Given the description of an element on the screen output the (x, y) to click on. 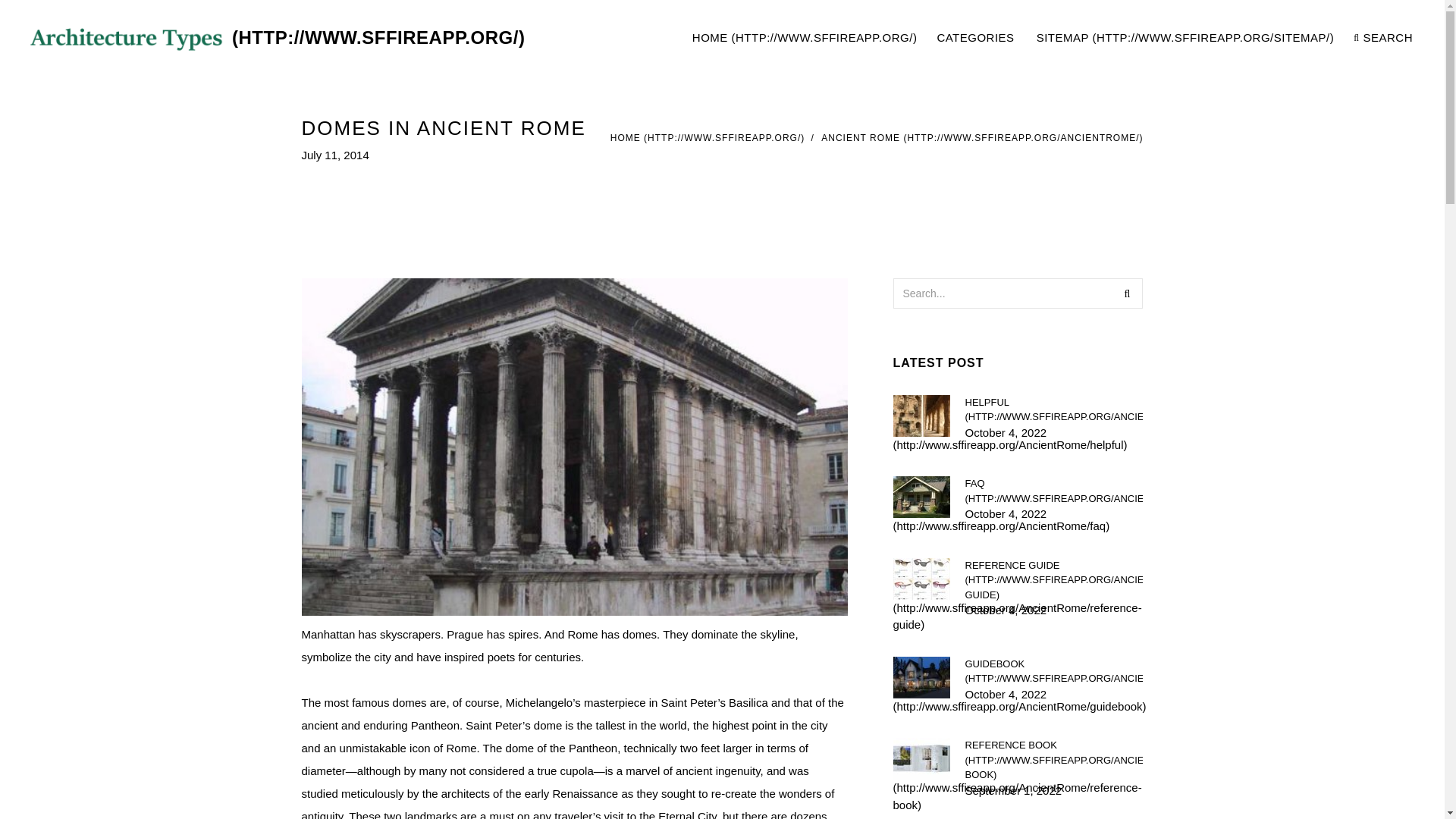
SEARCH (1051, 38)
Search (1382, 38)
REFERENCE GUIDE (1126, 292)
REFERENCE BOOK (1052, 579)
HELPFUL (1052, 759)
GUIDEBOOK (1052, 408)
SITEMAP (1052, 671)
HOME (1185, 38)
Architecture Types (707, 137)
CATEGORIES (273, 38)
FAQ (976, 38)
ANCIENT ROME (1052, 490)
HOME (981, 137)
